Given the description of an element on the screen output the (x, y) to click on. 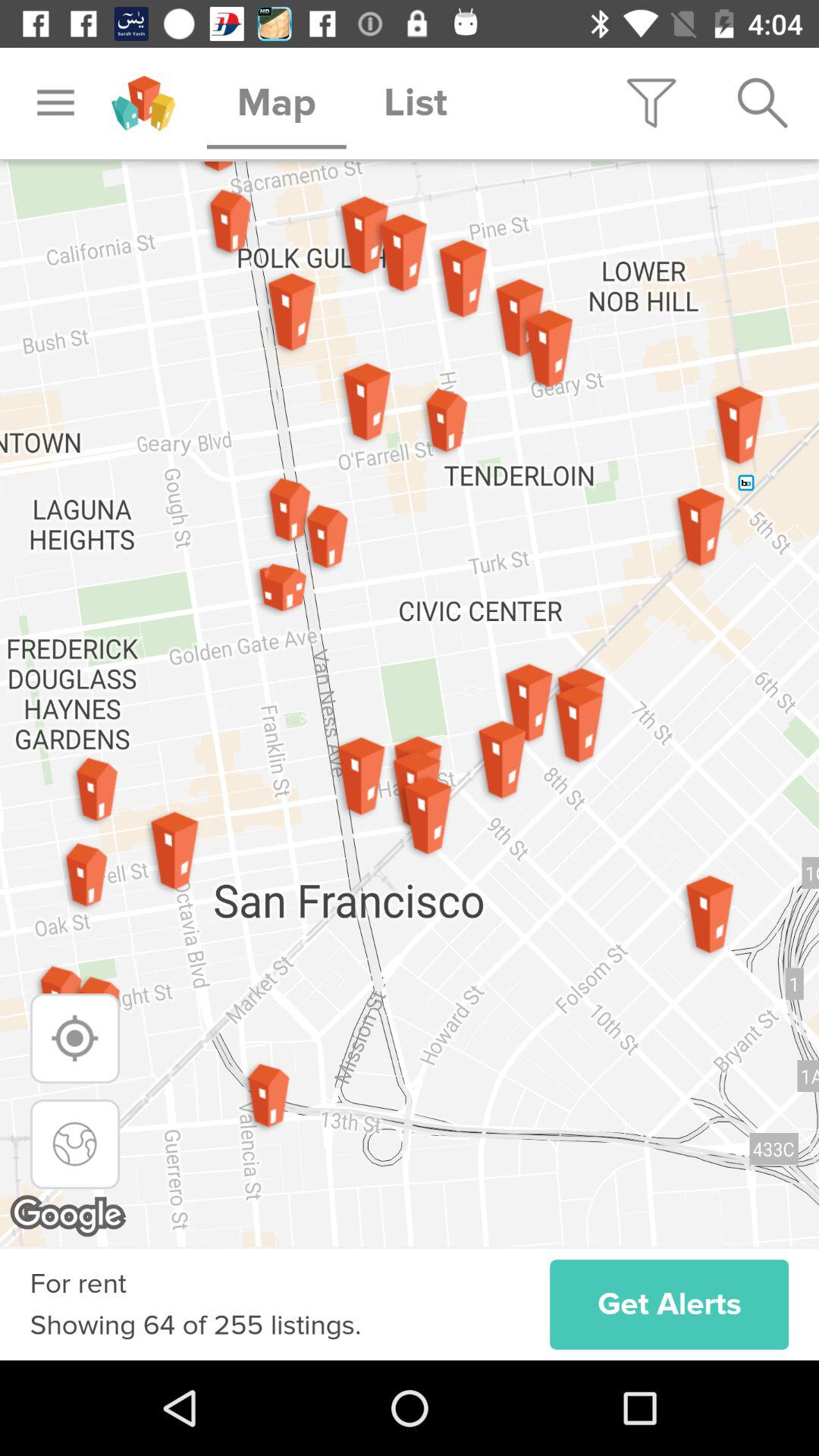
choose the icon at the bottom right corner (668, 1304)
